Given the description of an element on the screen output the (x, y) to click on. 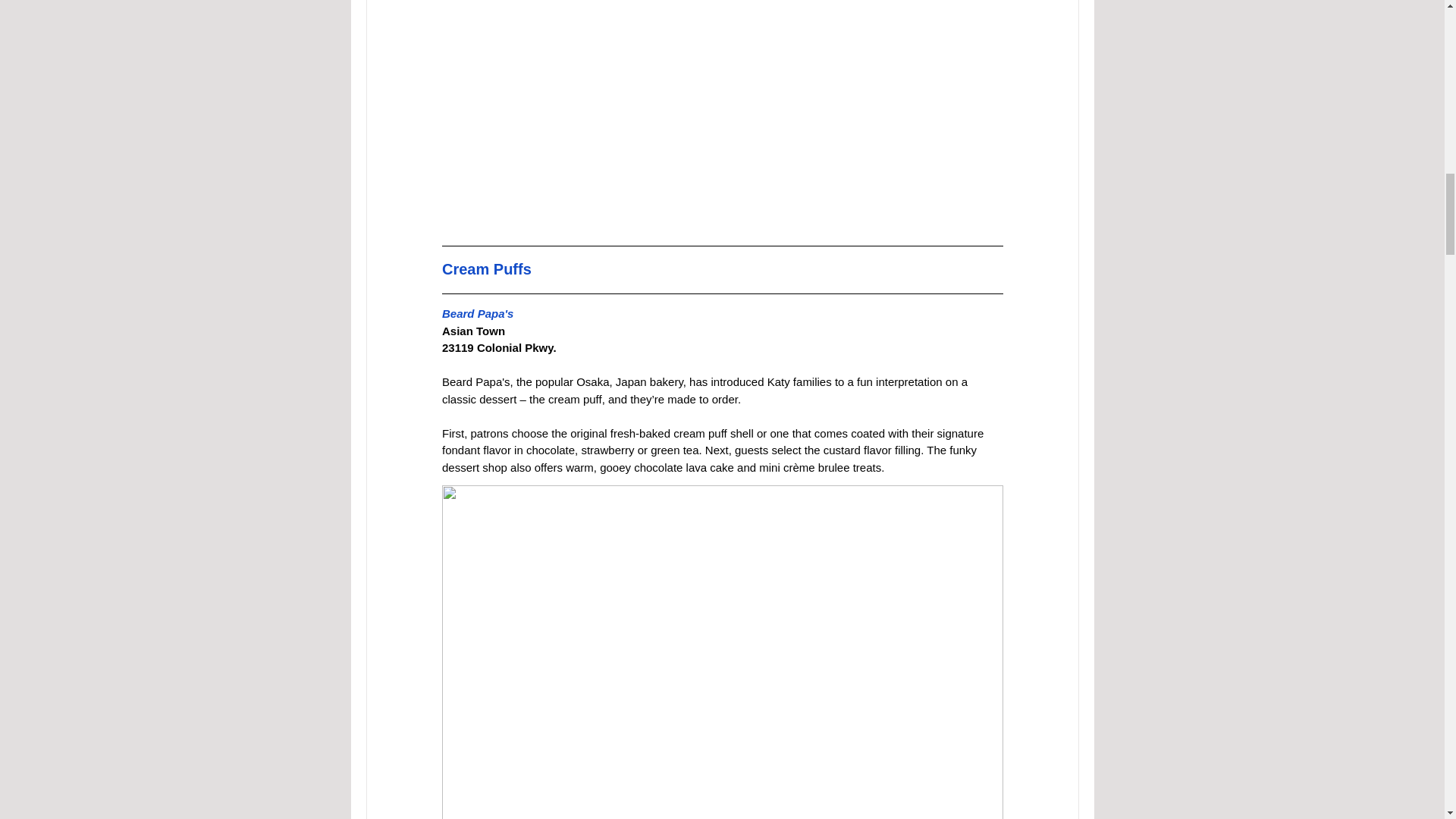
Beard Papa's (476, 313)
